Given the description of an element on the screen output the (x, y) to click on. 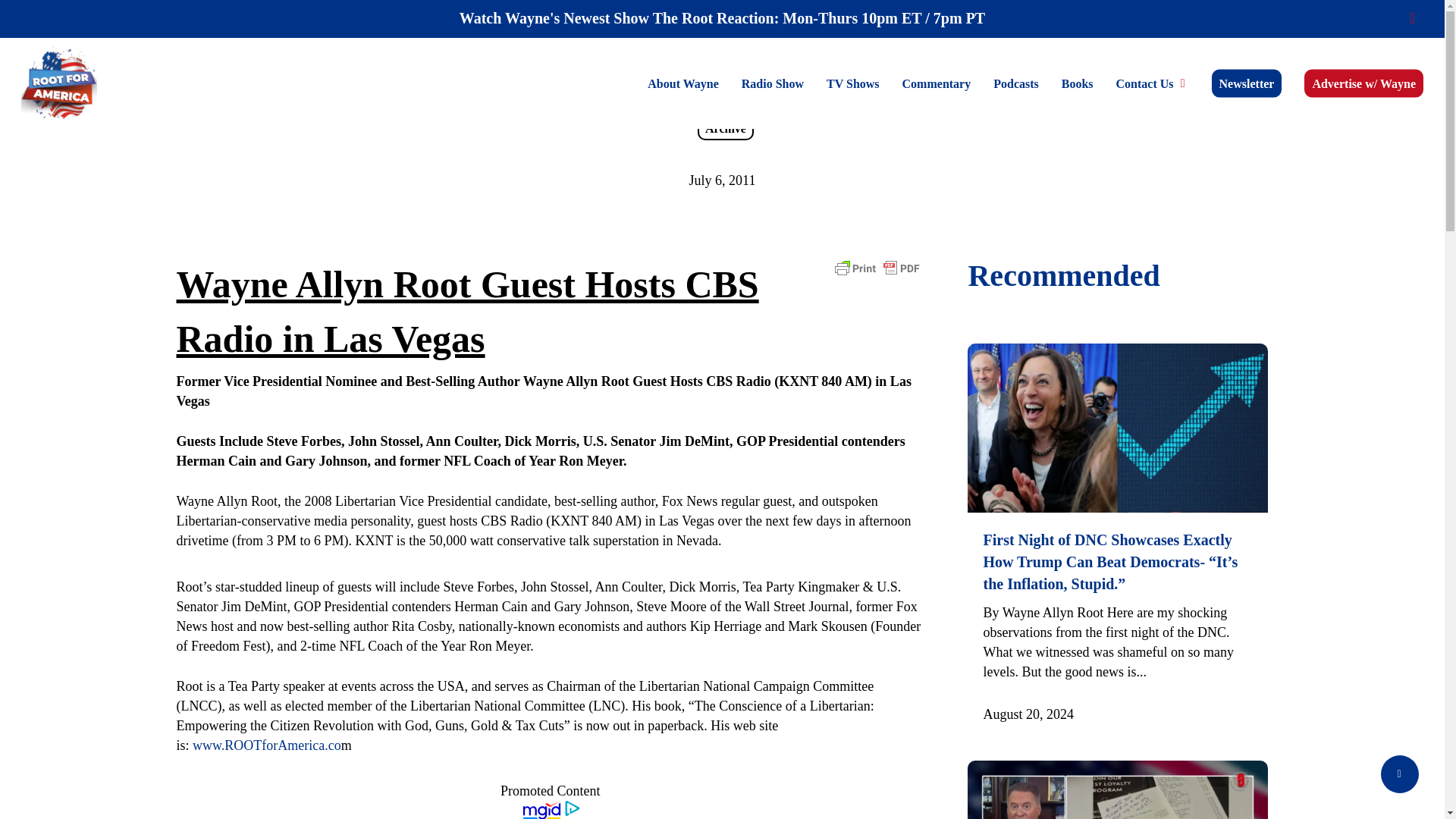
www.ROOTforAmerica.co (266, 744)
Books (1077, 82)
About Wayne (683, 82)
Newsletter (1246, 82)
Radio Show (772, 82)
TV Shows (853, 82)
Commentary (936, 82)
Contact Us (1152, 82)
www.ROOTforAmerica.com (266, 744)
Archive (725, 128)
